Given the description of an element on the screen output the (x, y) to click on. 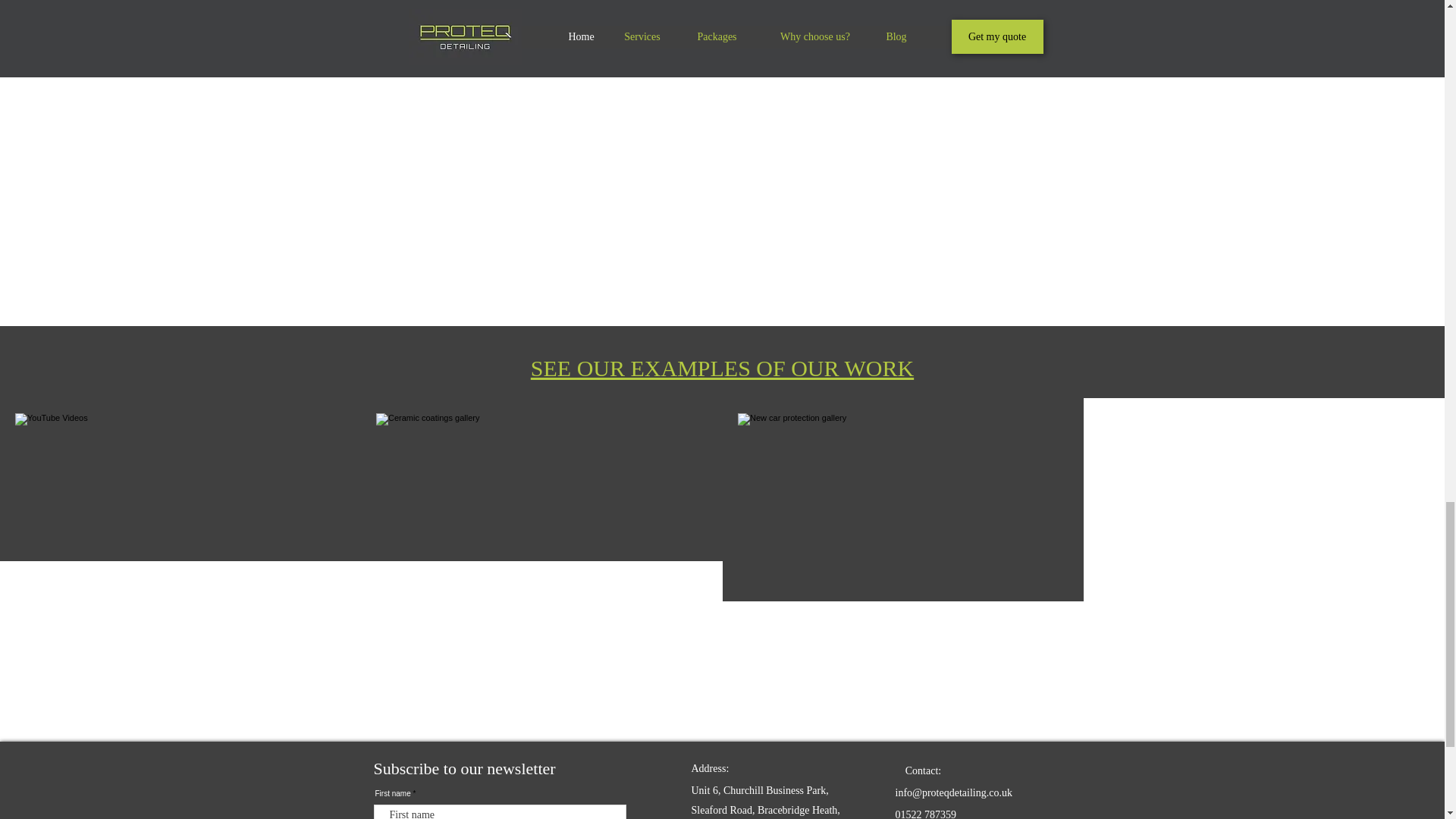
SEE OUR EXAMPLES OF OUR WORK (722, 367)
